Given the description of an element on the screen output the (x, y) to click on. 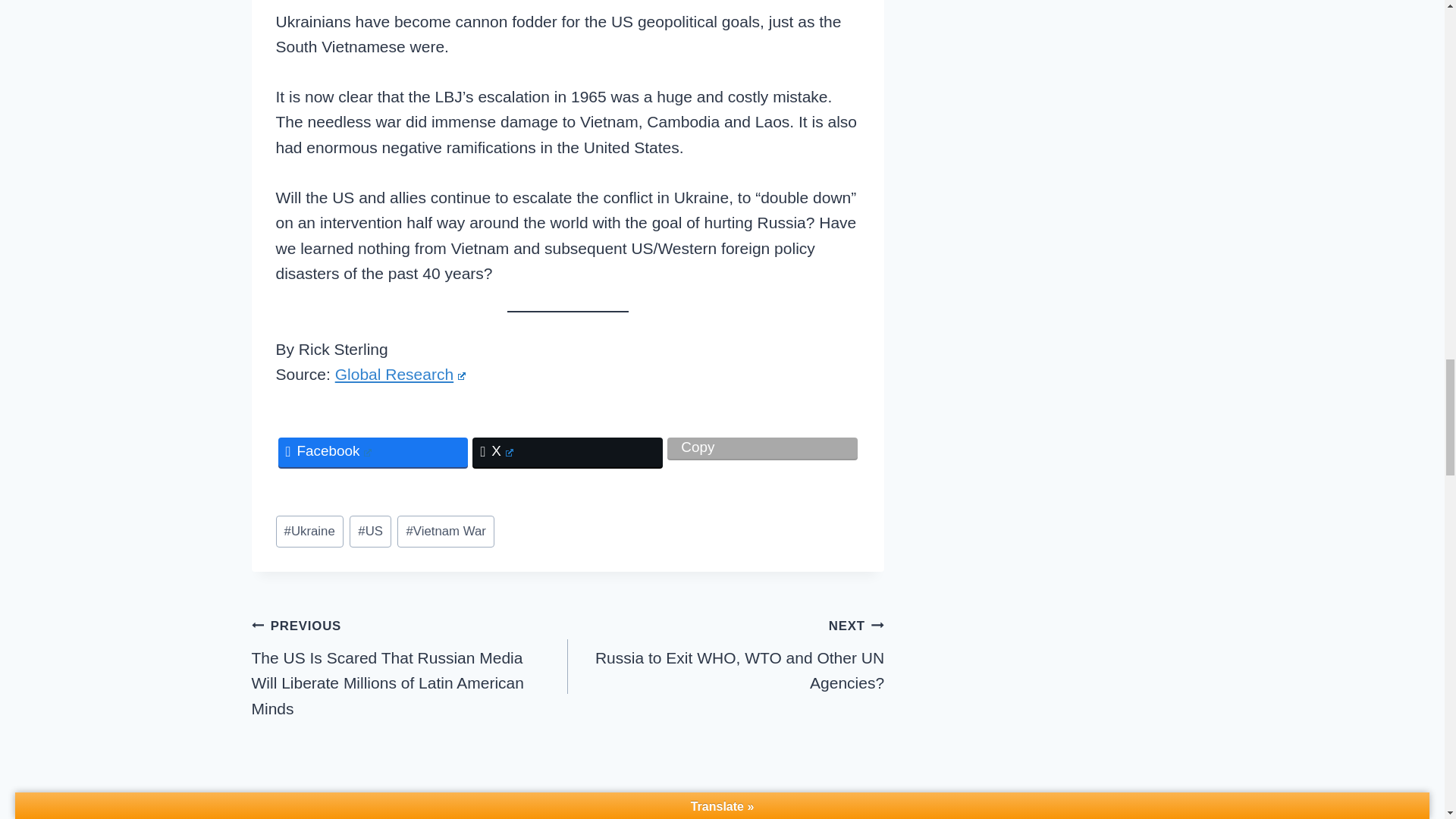
Vietnam War (446, 531)
Facebook (372, 451)
Global Research (399, 374)
US (725, 653)
Ukraine (370, 531)
Copy (309, 531)
X (761, 447)
